Given the description of an element on the screen output the (x, y) to click on. 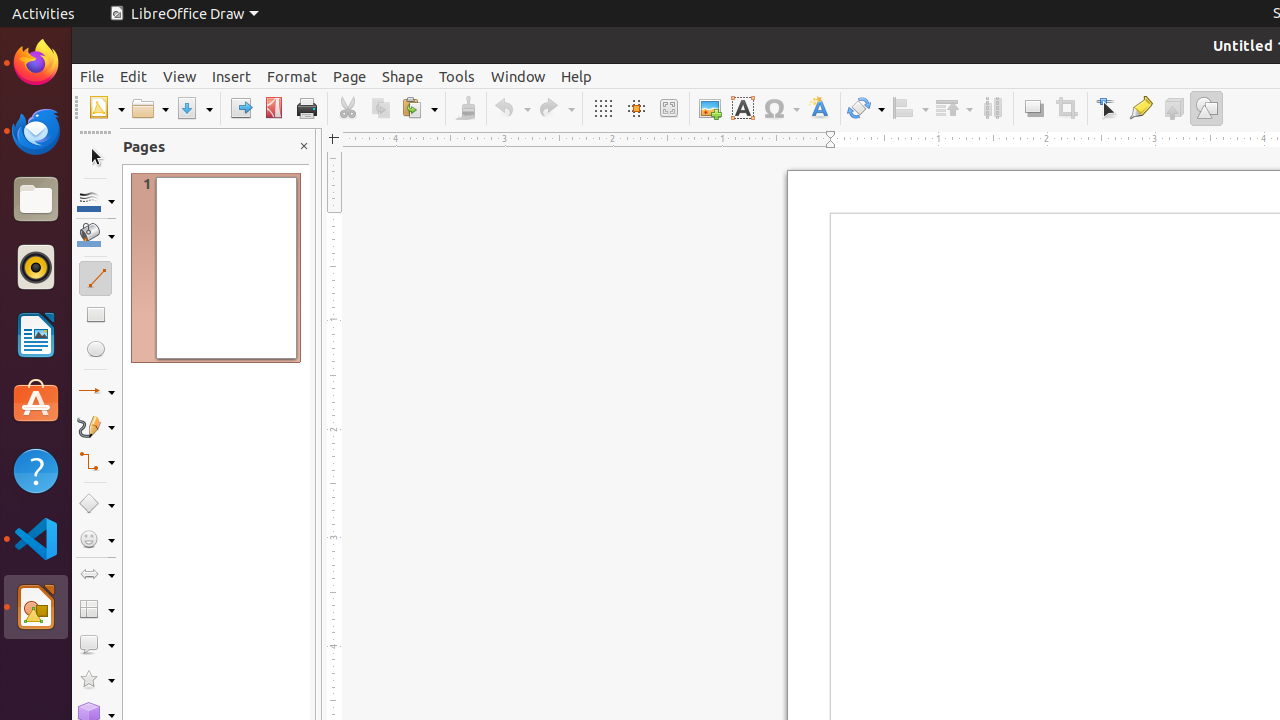
Edit Points Element type: push-button (1107, 108)
